Given the description of an element on the screen output the (x, y) to click on. 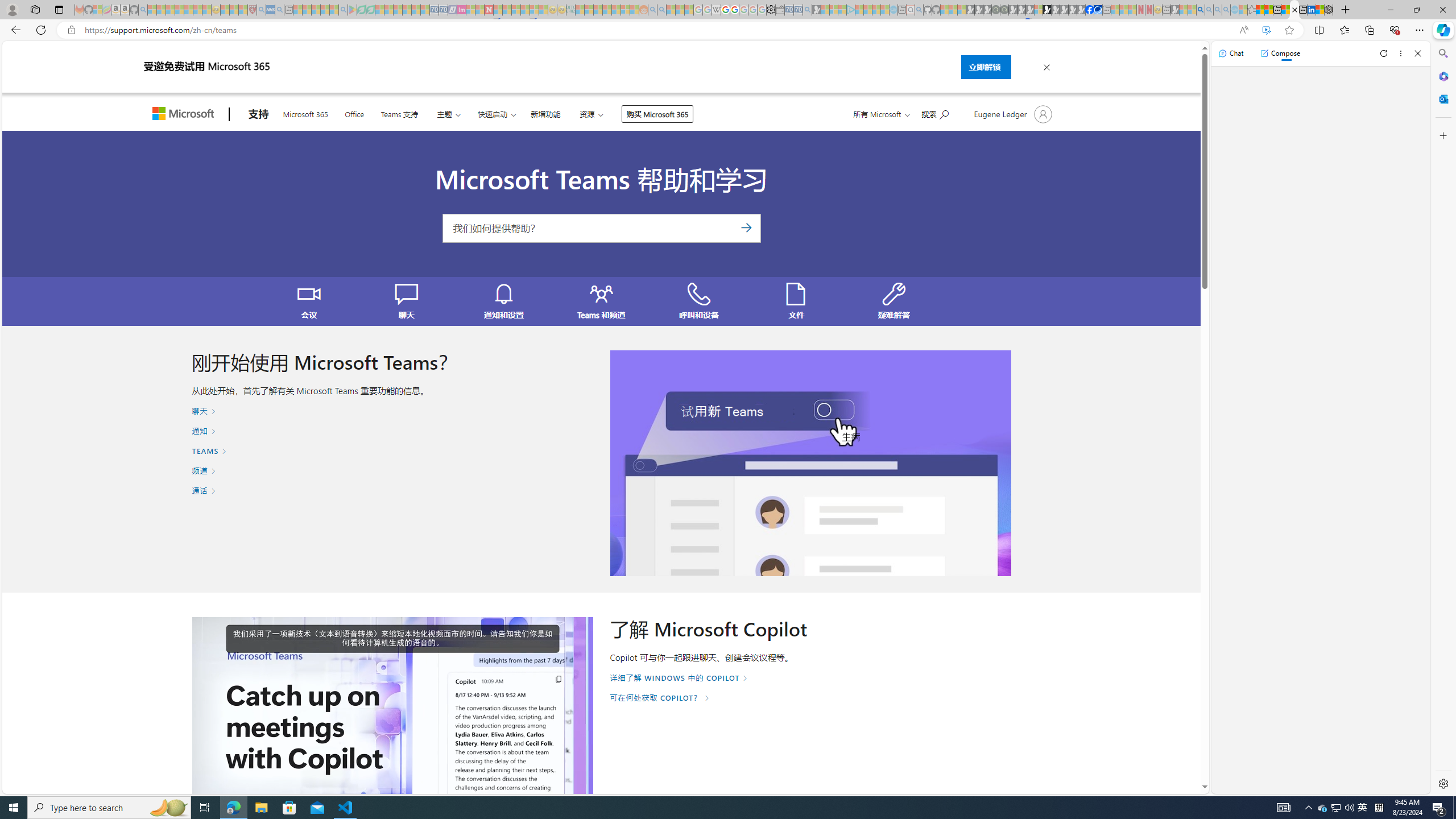
Terms of Use Agreement - Sleeping (361, 9)
MSN - Sleeping (1174, 9)
View site information (70, 29)
Favorites - Sleeping (1251, 9)
